Given the description of an element on the screen output the (x, y) to click on. 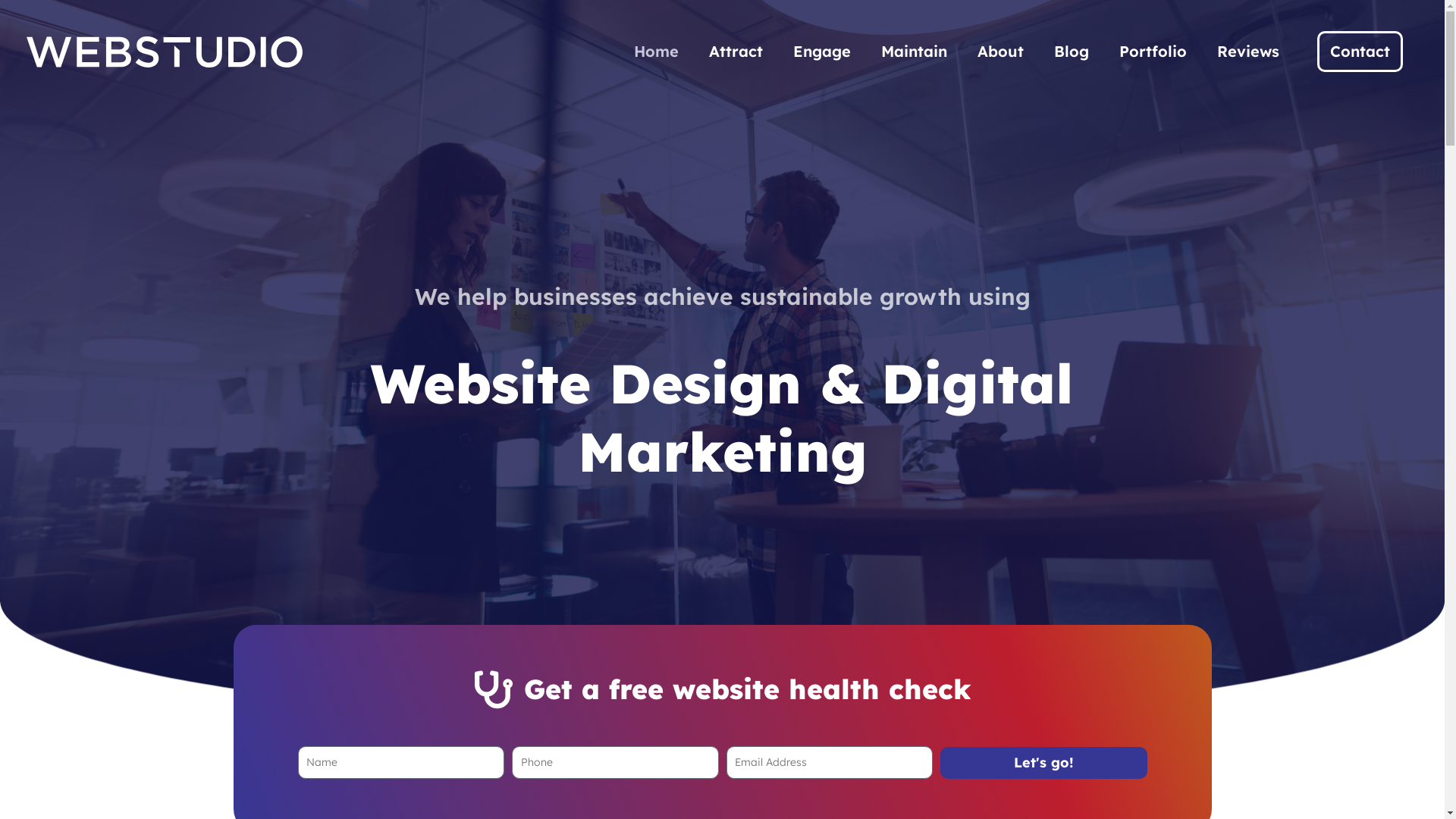
Contact Element type: text (1359, 51)
Maintain Element type: text (914, 51)
Reviews Element type: text (1247, 51)
Portfolio Element type: text (1152, 51)
Attract Element type: text (735, 51)
Home Element type: text (655, 51)
Engage Element type: text (822, 51)
Blog Element type: text (1071, 51)
Let's go! Element type: text (1043, 762)
About Element type: text (1000, 51)
